Given the description of an element on the screen output the (x, y) to click on. 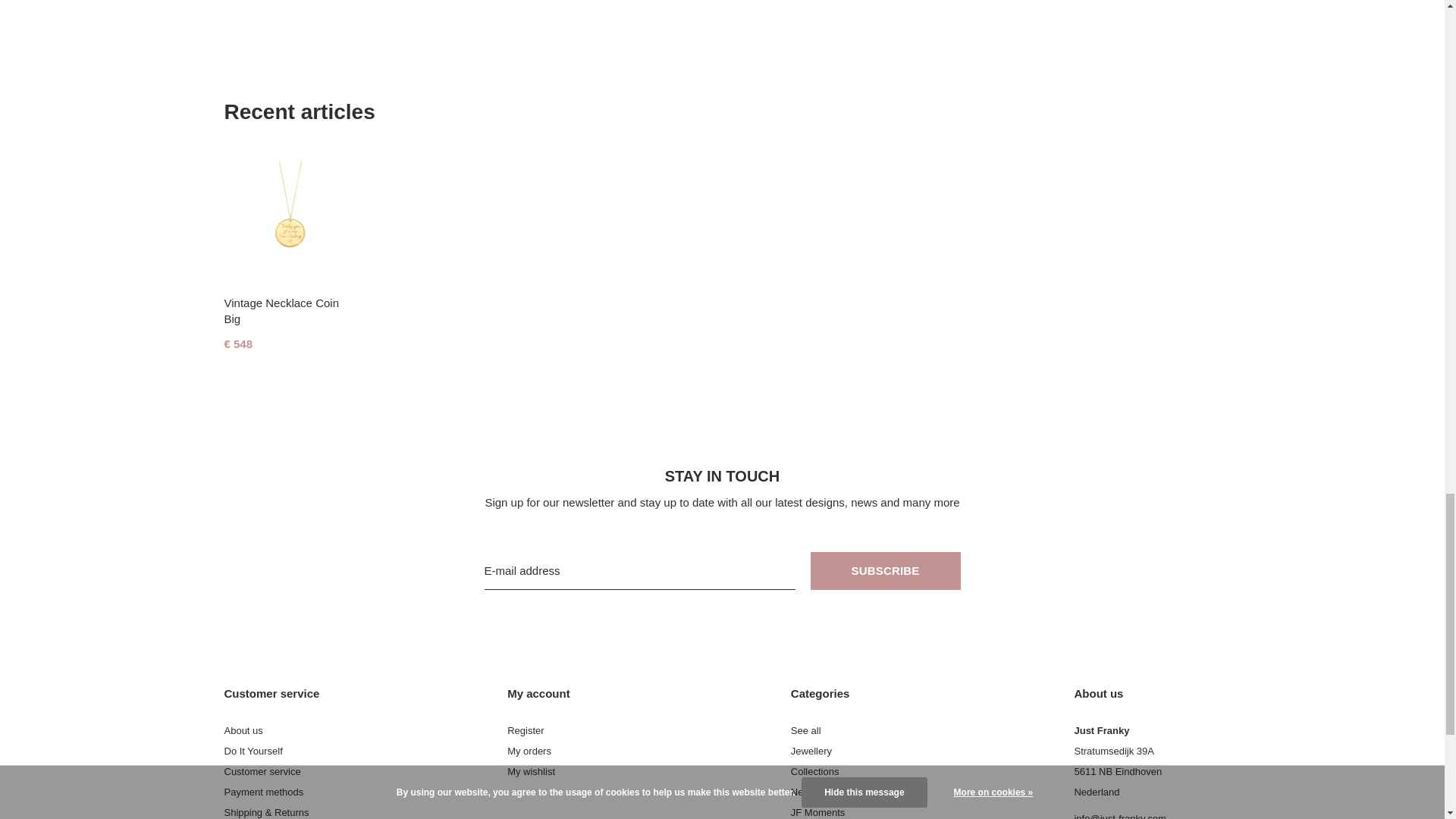
My wishlist (530, 771)
My orders (528, 750)
Register (524, 730)
